Given the description of an element on the screen output the (x, y) to click on. 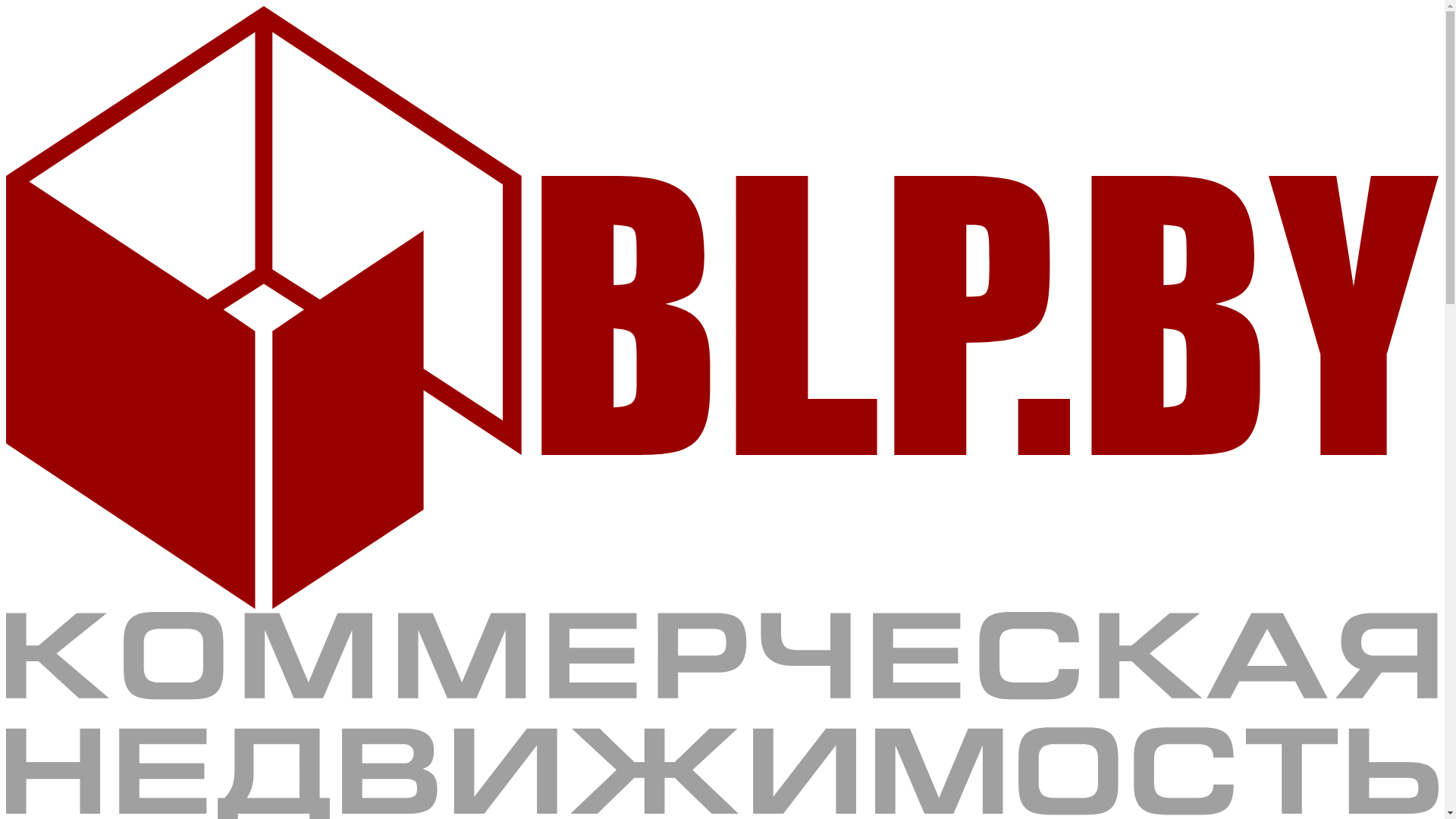
blp.by Element type: hover (722, 604)
